Given the description of an element on the screen output the (x, y) to click on. 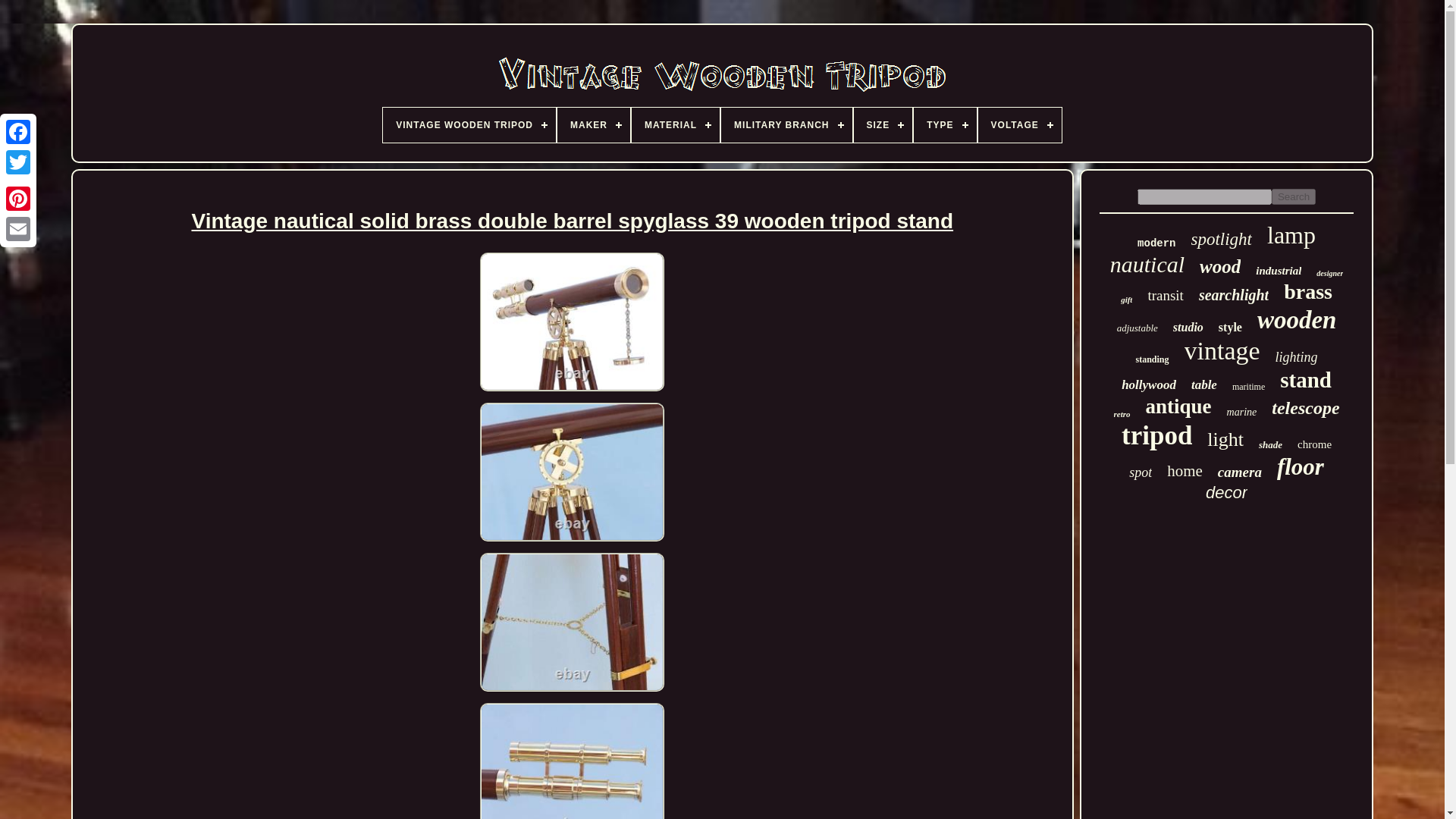
MAKER (593, 124)
MATERIAL (675, 124)
Facebook (17, 132)
Search (1293, 196)
VINTAGE WOODEN TRIPOD (469, 124)
